Given the description of an element on the screen output the (x, y) to click on. 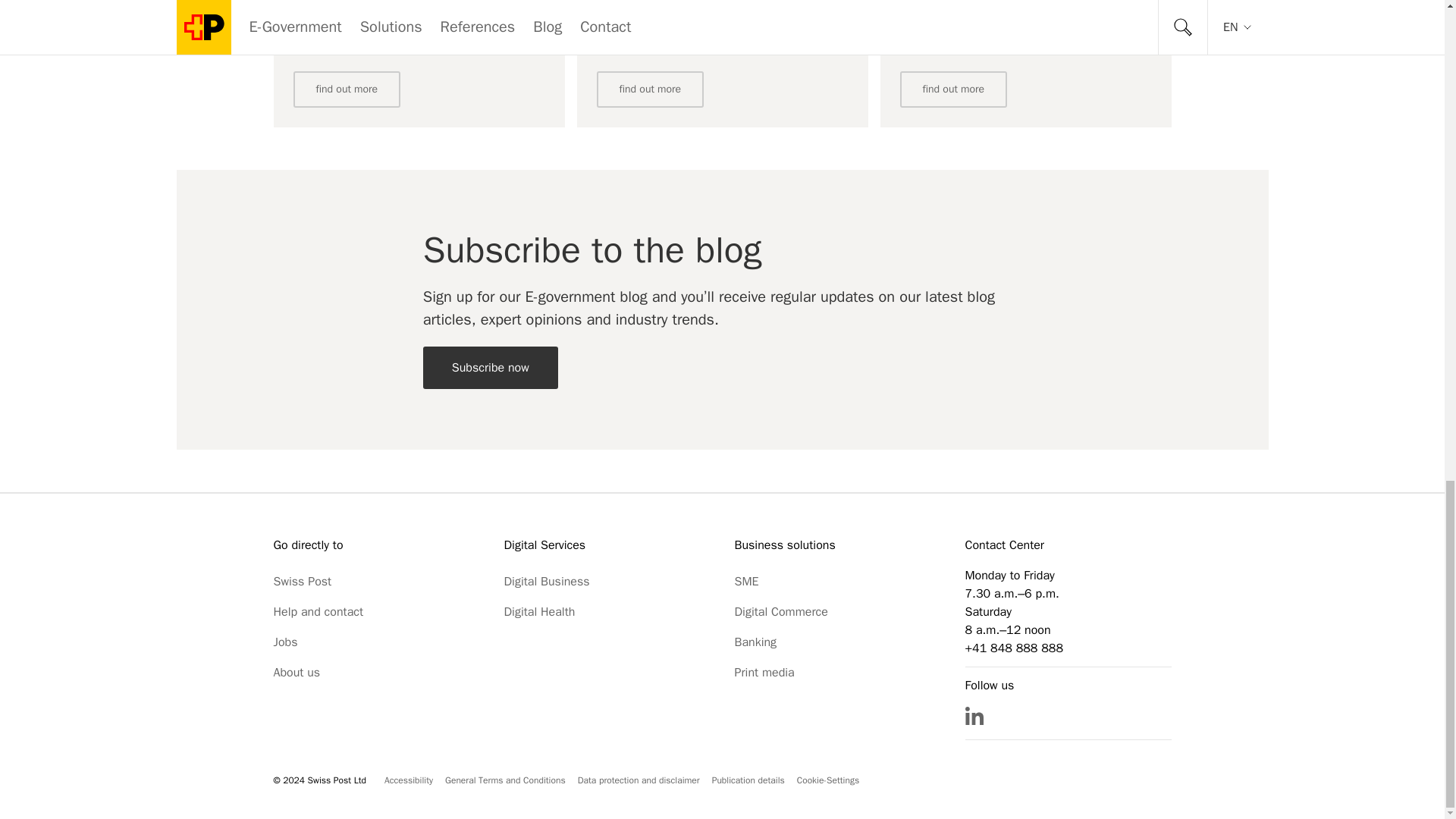
Digital Health (539, 612)
find out more (346, 89)
find out more (649, 89)
Accessibility (408, 780)
Help and contact (317, 612)
Subscribe now (490, 367)
Swiss Post (302, 581)
Print media (763, 672)
